Given the description of an element on the screen output the (x, y) to click on. 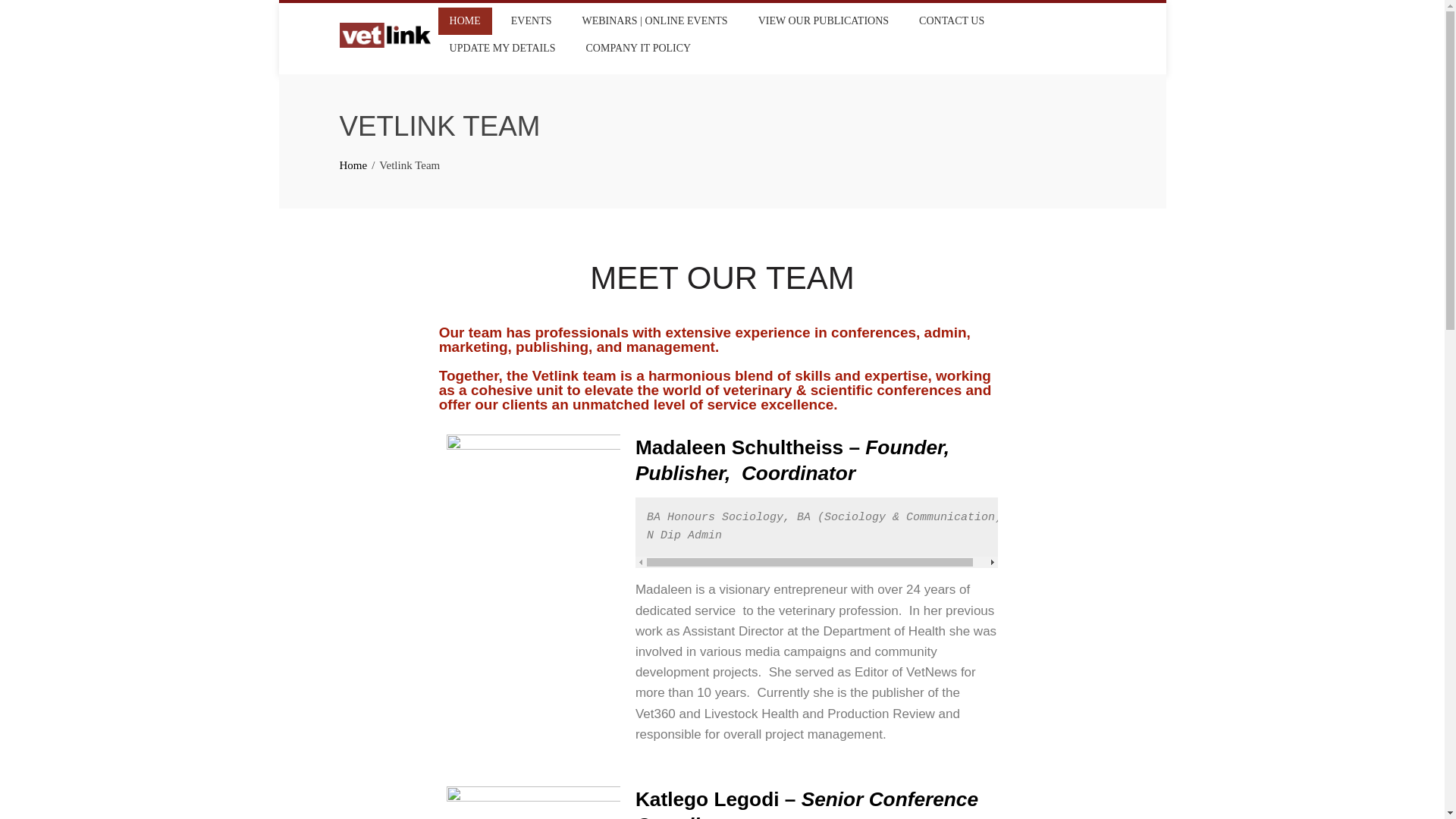
COMPANY IT POLICY (639, 48)
Home (353, 164)
VIEW OUR PUBLICATIONS (822, 21)
CONTACT US (951, 21)
UPDATE MY DETAILS (502, 48)
HOME (465, 21)
EVENTS (531, 21)
